Given the description of an element on the screen output the (x, y) to click on. 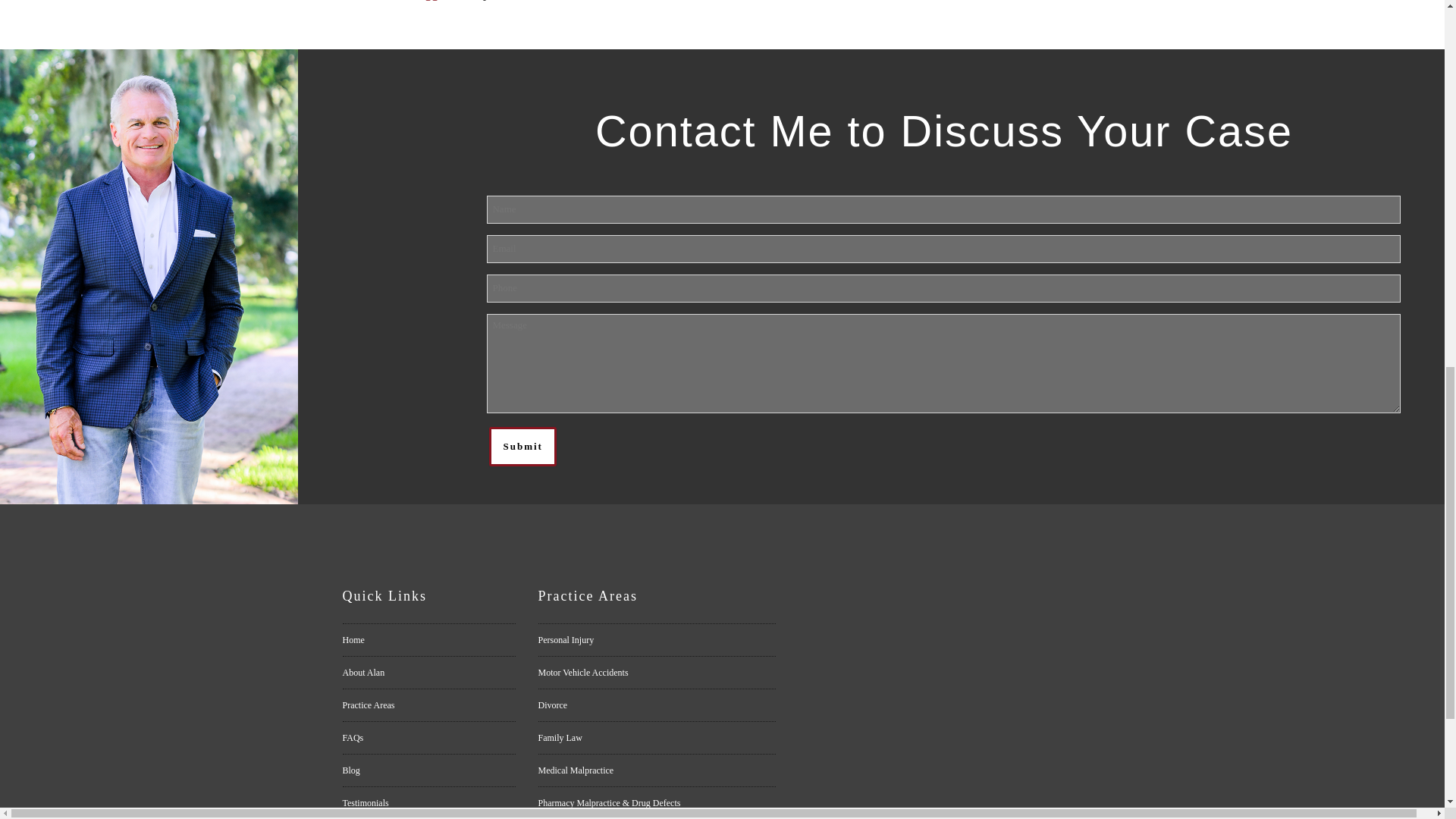
Submit (522, 446)
FAQs (428, 737)
Personal Injury (657, 640)
Family Law (657, 737)
Blog (428, 770)
Divorce (657, 705)
Testimonials (428, 803)
Motor Vehicle Accidents (657, 672)
Home (428, 640)
Practice Areas (428, 705)
About Alan (428, 672)
Submit (522, 446)
Medical Malpractice (657, 770)
logged in (439, 0)
